Given the description of an element on the screen output the (x, y) to click on. 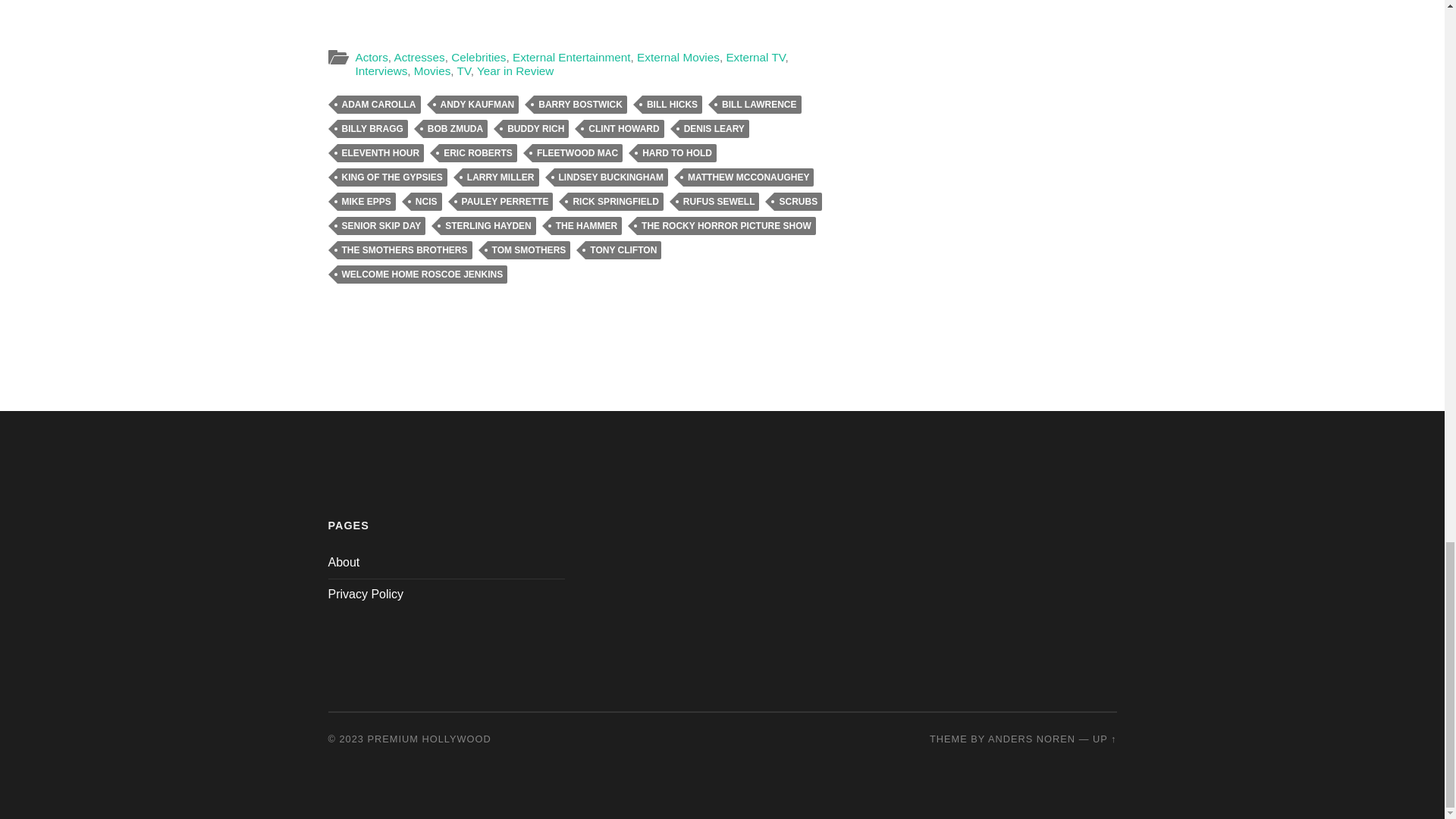
Actresses (419, 56)
BILL HICKS (671, 104)
External TV (754, 56)
BILLY BRAGG (371, 128)
External Entertainment (571, 56)
Movies (431, 70)
BILL LAWRENCE (758, 104)
BARRY BOSTWICK (580, 104)
Celebrities (478, 56)
Year in Review (515, 70)
Actors (371, 56)
ADAM CAROLLA (378, 104)
TV (463, 70)
ANDY KAUFMAN (476, 104)
External Movies (678, 56)
